Given the description of an element on the screen output the (x, y) to click on. 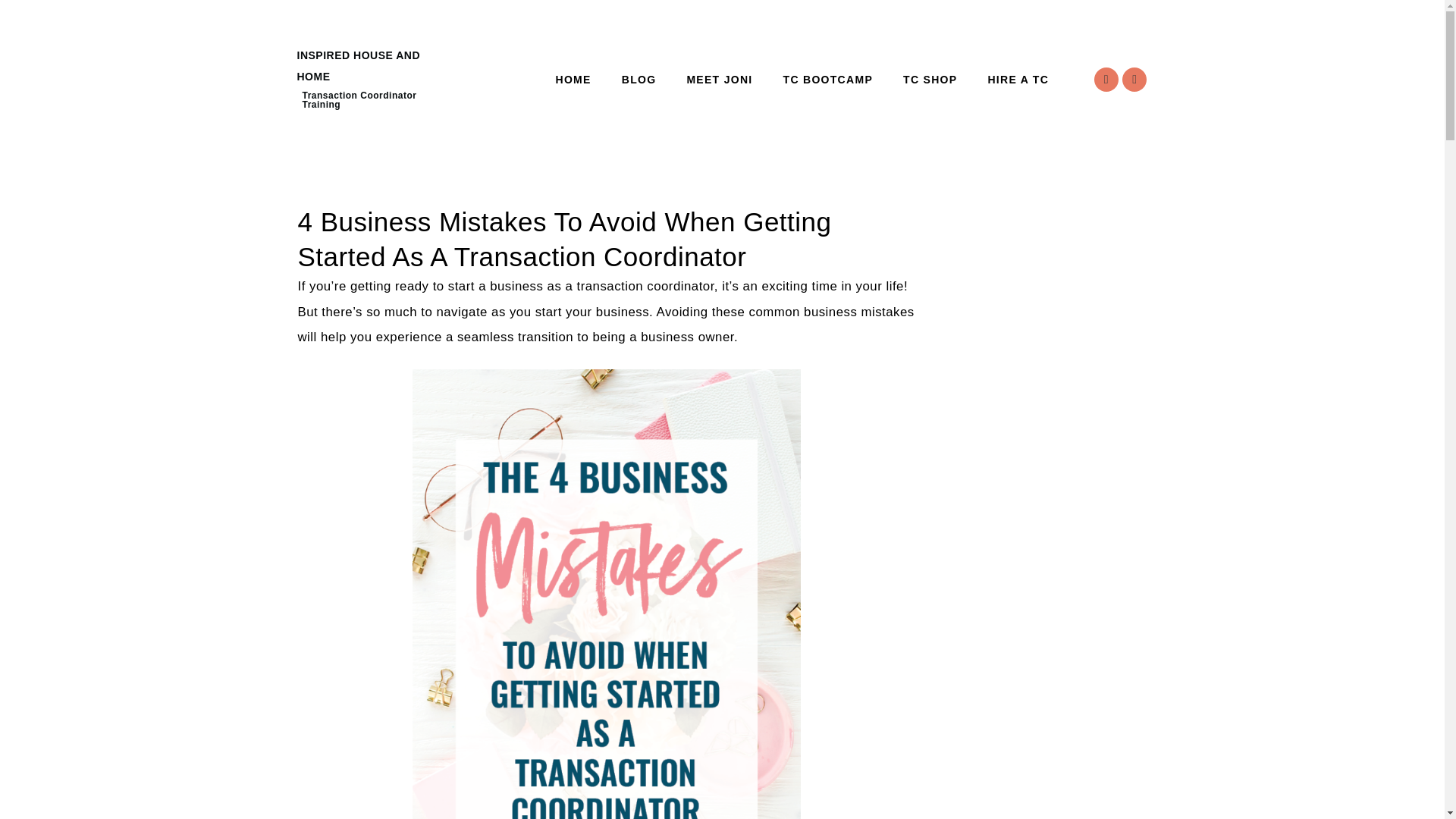
MEET JONI (719, 79)
HIRE A TC (1018, 79)
TC BOOTCAMP (828, 79)
TC SHOP (930, 79)
BLOG (639, 79)
HOME (573, 79)
